Given the description of an element on the screen output the (x, y) to click on. 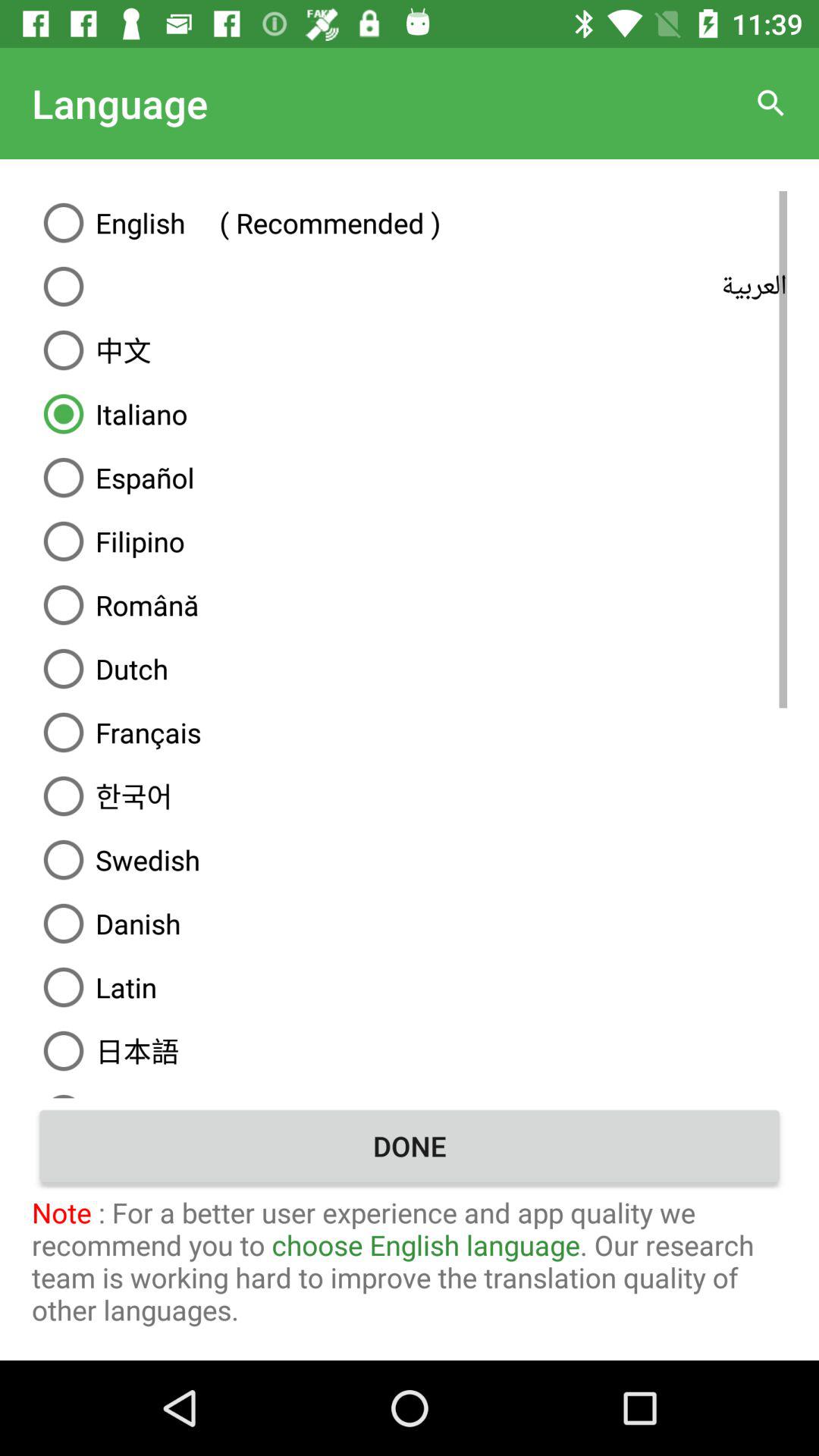
swipe to latin icon (409, 987)
